Given the description of an element on the screen output the (x, y) to click on. 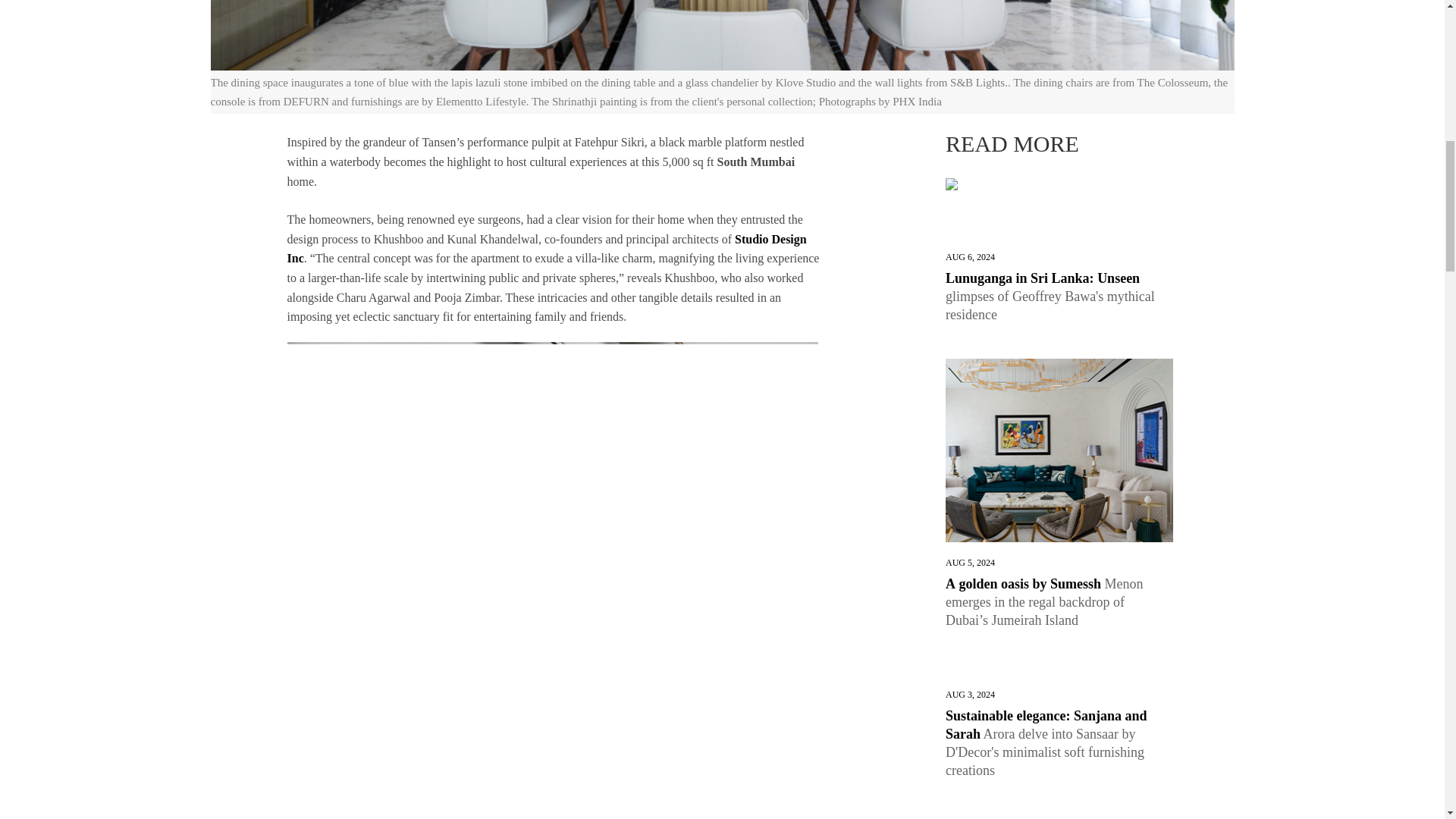
Studio Design Inc (546, 248)
